Given the description of an element on the screen output the (x, y) to click on. 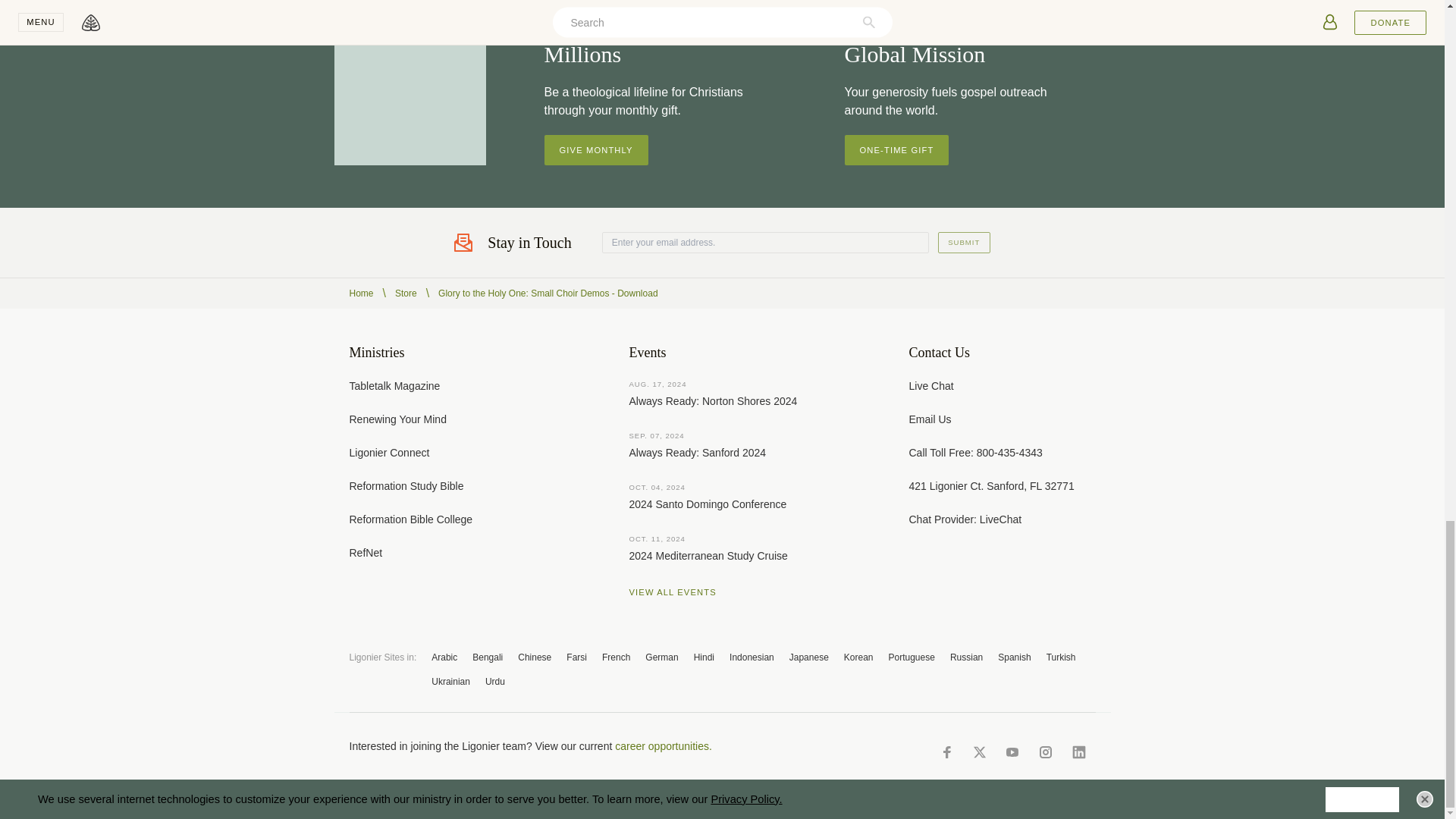
Give Monthly (595, 150)
